Given the description of an element on the screen output the (x, y) to click on. 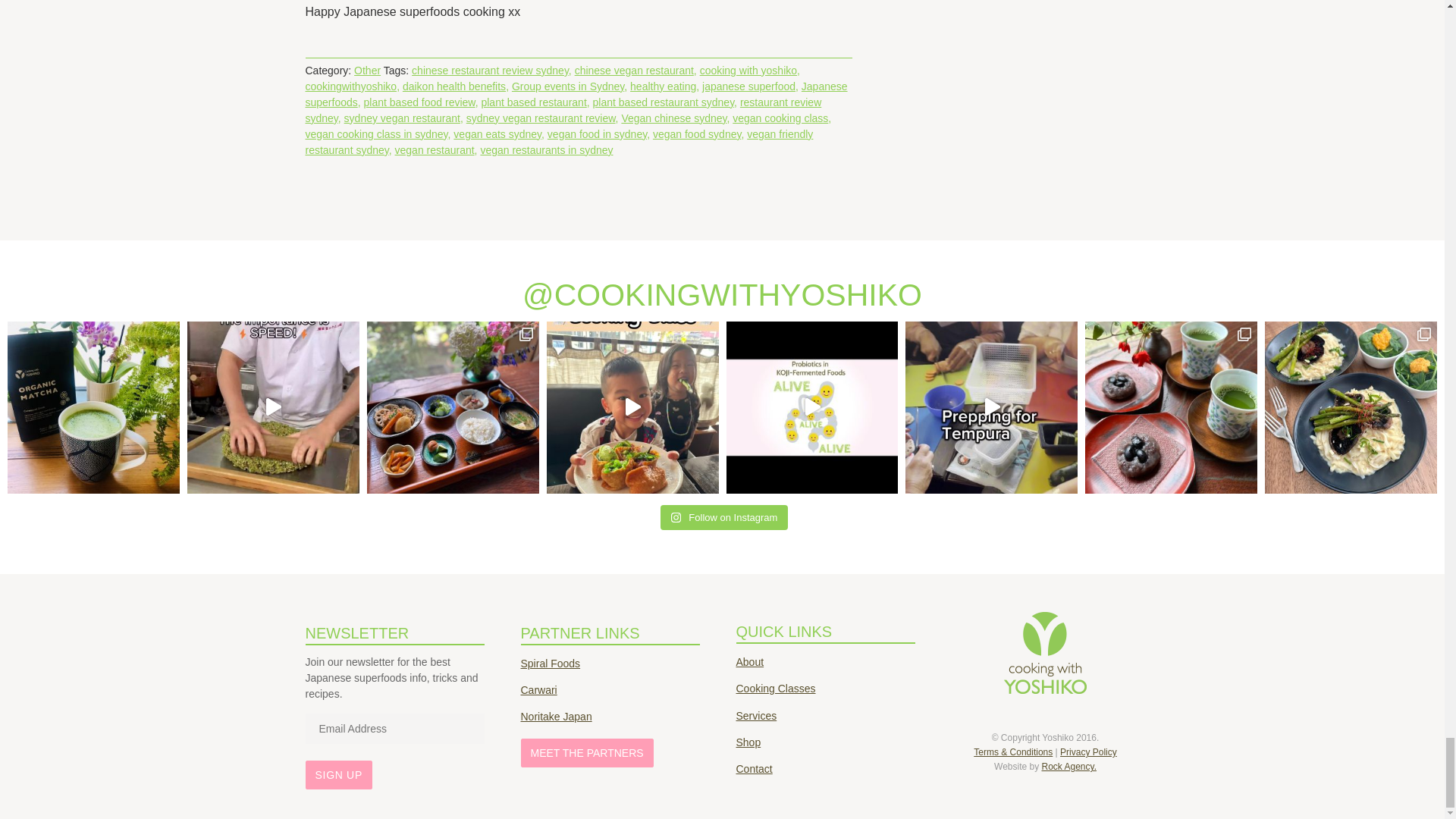
Sign Up (337, 774)
